Given the description of an element on the screen output the (x, y) to click on. 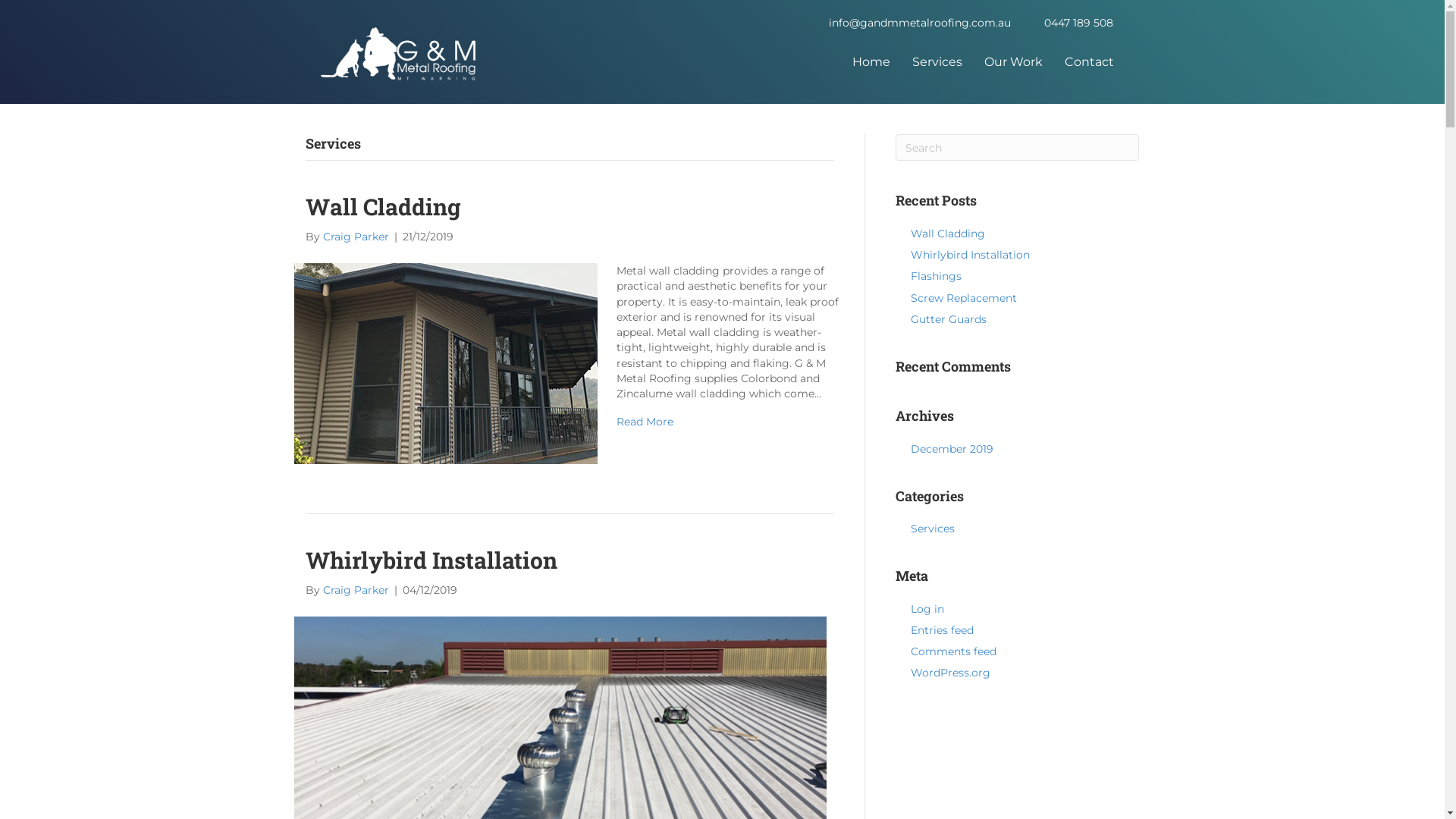
WordPress.org Element type: text (950, 672)
Wall Cladding Element type: text (382, 206)
Entries feed Element type: text (941, 630)
Wall Cladding Element type: text (947, 233)
G & M Roofing Logo White Element type: hover (397, 53)
Flashings Element type: text (935, 275)
Services Element type: text (932, 528)
info@gandmmetalroofing.com.au Element type: text (919, 22)
Wall Cladding Element type: hover (445, 362)
Screw Replacement Element type: text (963, 297)
Home Element type: text (870, 61)
Whirlybird Installation Element type: text (430, 559)
Our Work Element type: text (1013, 61)
Type and press Enter to search. Element type: hover (1017, 147)
Read More Element type: text (643, 421)
Log in Element type: text (927, 608)
Comments feed Element type: text (953, 651)
Craig Parker Element type: text (356, 589)
Contact Element type: text (1089, 61)
Whirlybird Installation Element type: text (969, 254)
0447 189 508 Element type: text (1078, 22)
December 2019 Element type: text (951, 448)
Gutter Guards Element type: text (948, 319)
Services Element type: text (936, 61)
Whirlybird Installation Element type: hover (560, 793)
Craig Parker Element type: text (356, 236)
